Given the description of an element on the screen output the (x, y) to click on. 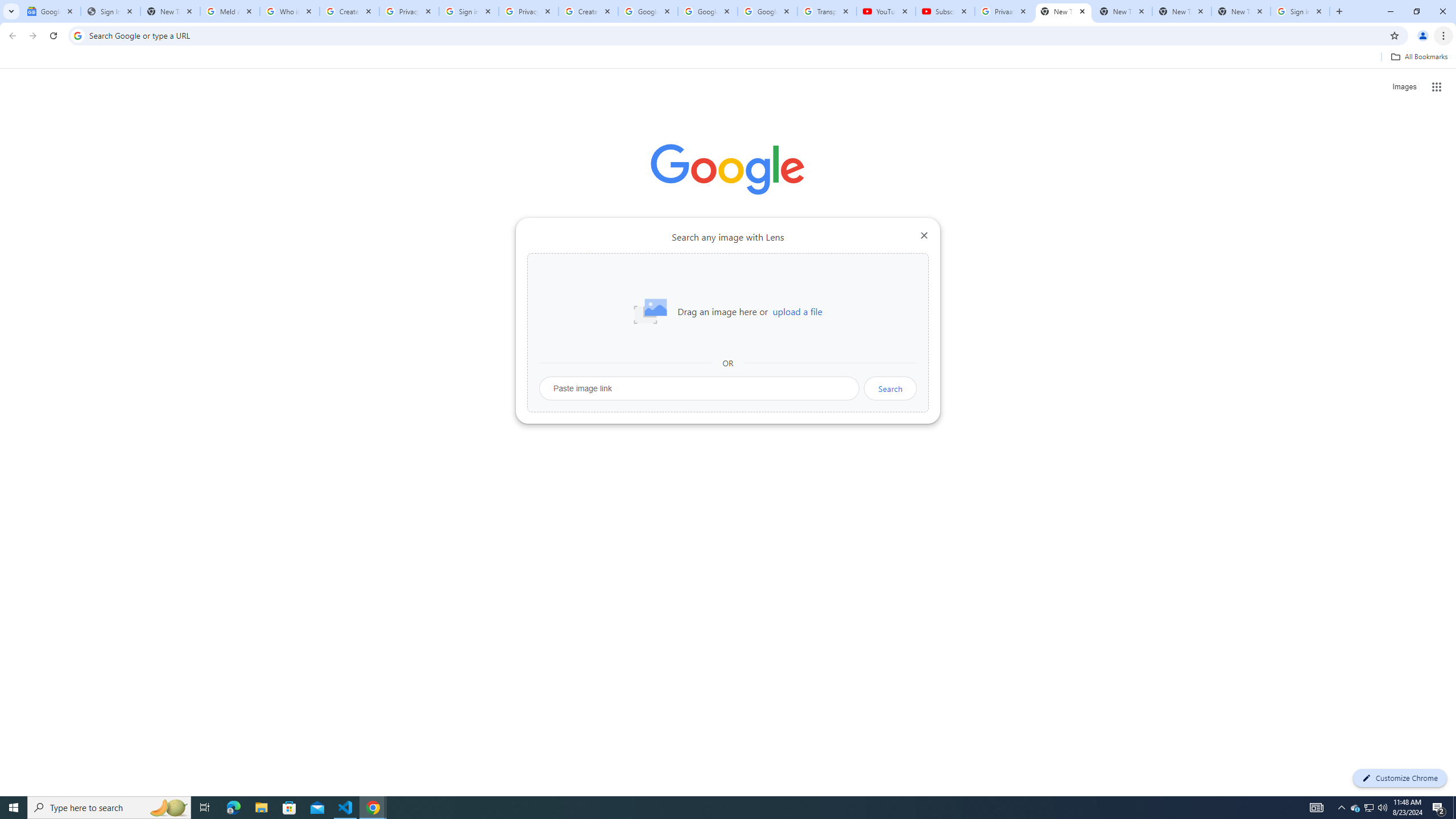
Sign In - USA TODAY (110, 11)
Bookmarks (728, 58)
Add shortcut (855, 287)
Paste image link (699, 388)
Sign in - Google Accounts (468, 11)
Google News (50, 11)
